Given the description of an element on the screen output the (x, y) to click on. 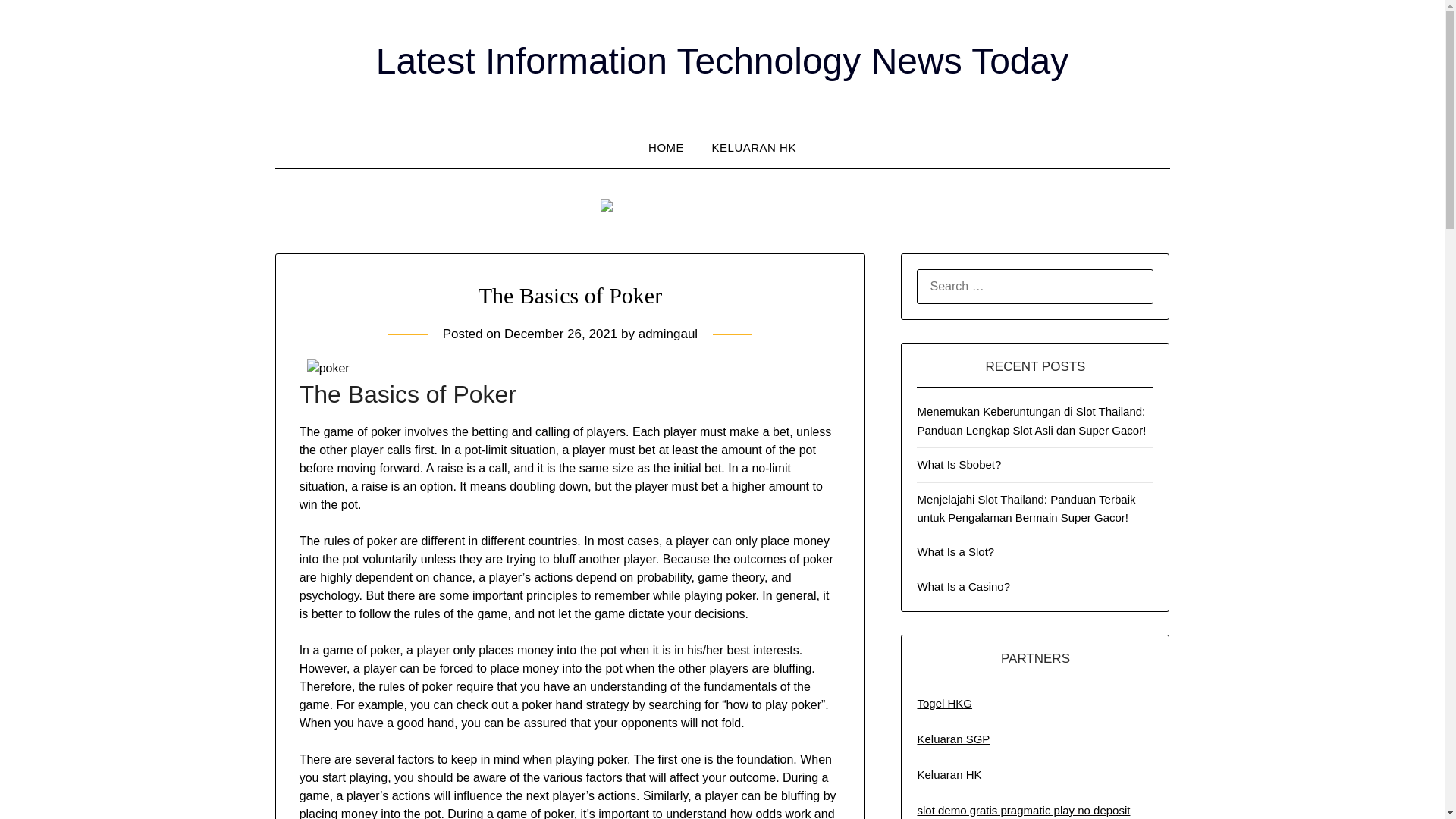
What Is a Casino? (963, 585)
HOME (665, 147)
December 26, 2021 (560, 333)
KELUARAN HK (754, 147)
admingaul (668, 333)
Keluaran HK (949, 774)
Search (38, 22)
Keluaran SGP (953, 738)
Togel HKG (944, 703)
What Is Sbobet? (959, 463)
